Given the description of an element on the screen output the (x, y) to click on. 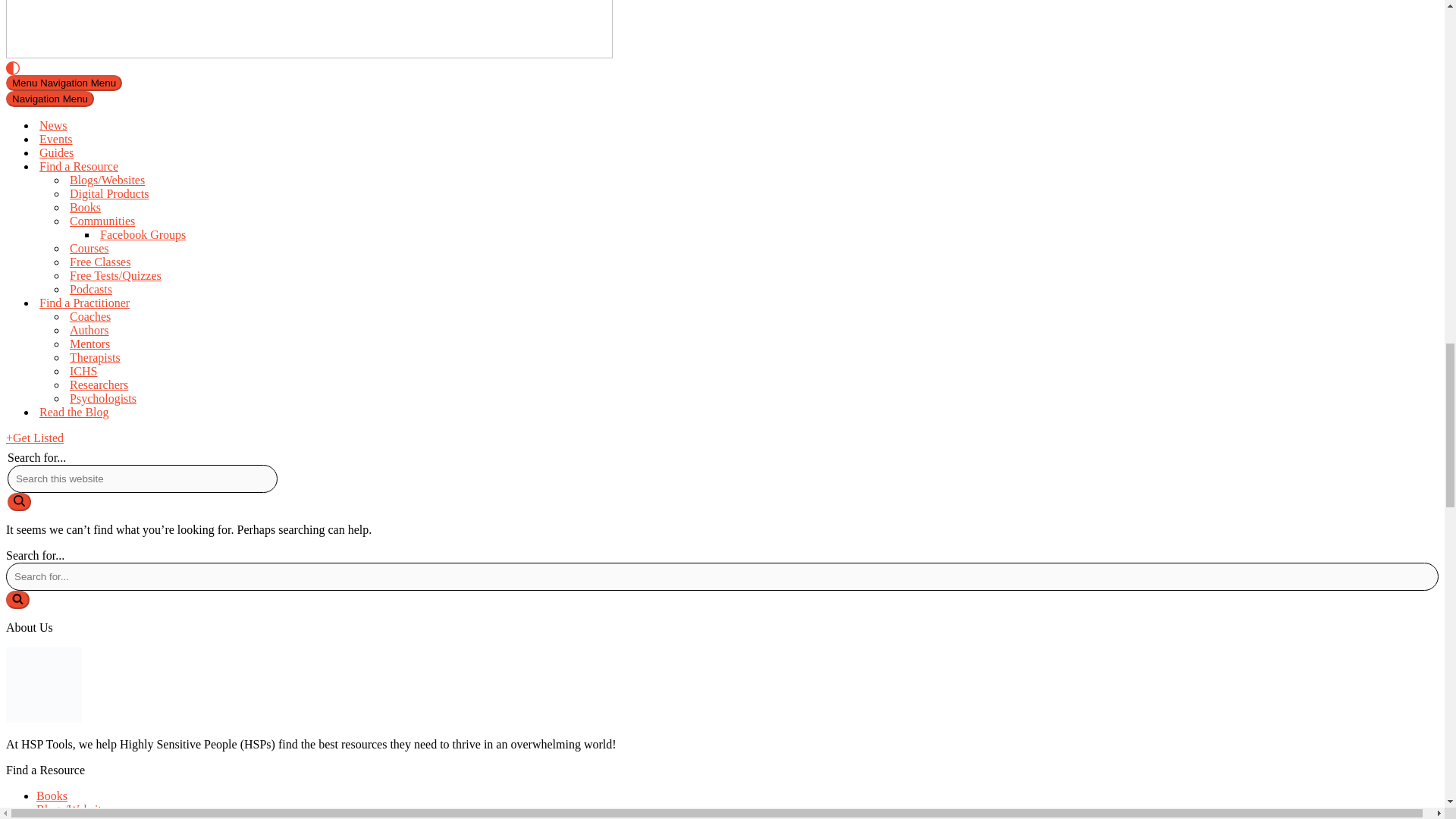
Guides (157, 152)
News (157, 125)
Digital Products (172, 193)
Find a Resource (170, 166)
Menu Navigation Menu (63, 82)
Navigation Menu (49, 98)
Books (172, 207)
Events (157, 139)
